Given the description of an element on the screen output the (x, y) to click on. 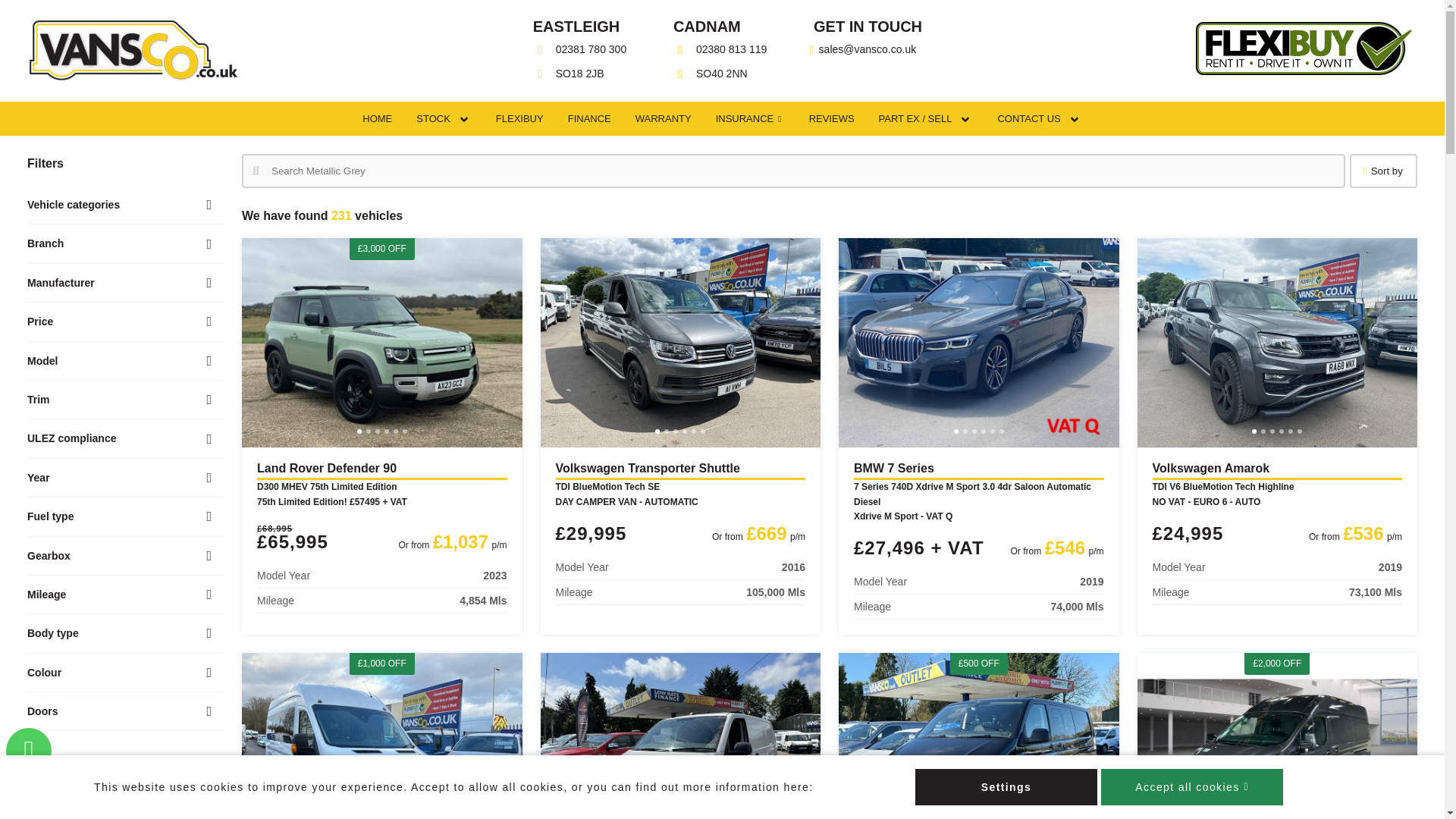
SO40 2NN (722, 74)
Finance (589, 118)
Vansco Ltd (133, 50)
Warranty (663, 118)
HOME (377, 118)
SO18 2JB (581, 74)
Home (377, 118)
STOCK (439, 118)
Reviews (831, 118)
WARRANTY (663, 118)
02380 813 119 (722, 49)
CONTACT US (1034, 118)
Flexibuy (519, 118)
Contact Us (1034, 118)
Stock (439, 118)
